Given the description of an element on the screen output the (x, y) to click on. 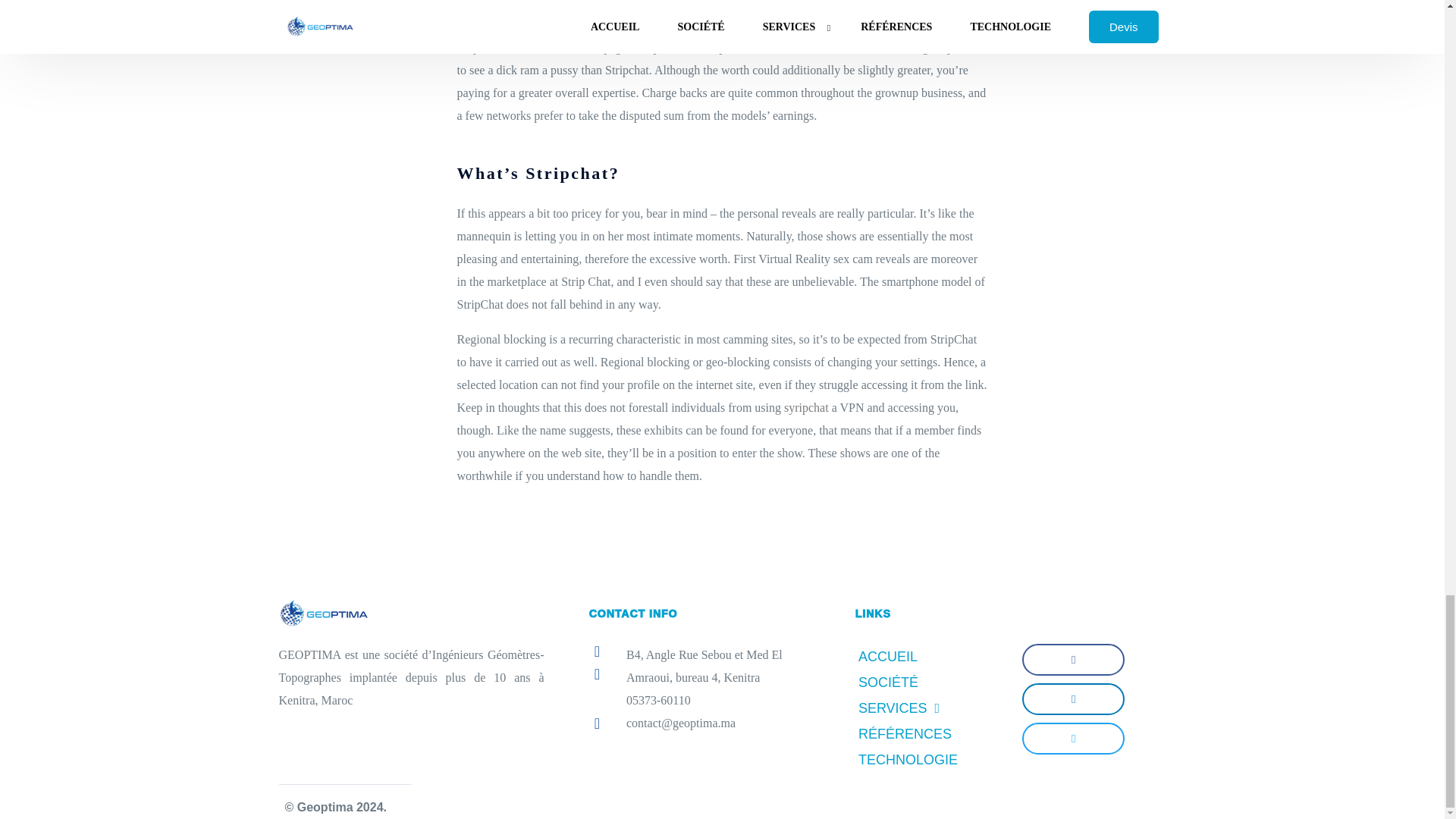
TECHNOLOGIE (929, 759)
ACCUEIL (929, 656)
SERVICES (929, 708)
syripchat (806, 407)
